Given the description of an element on the screen output the (x, y) to click on. 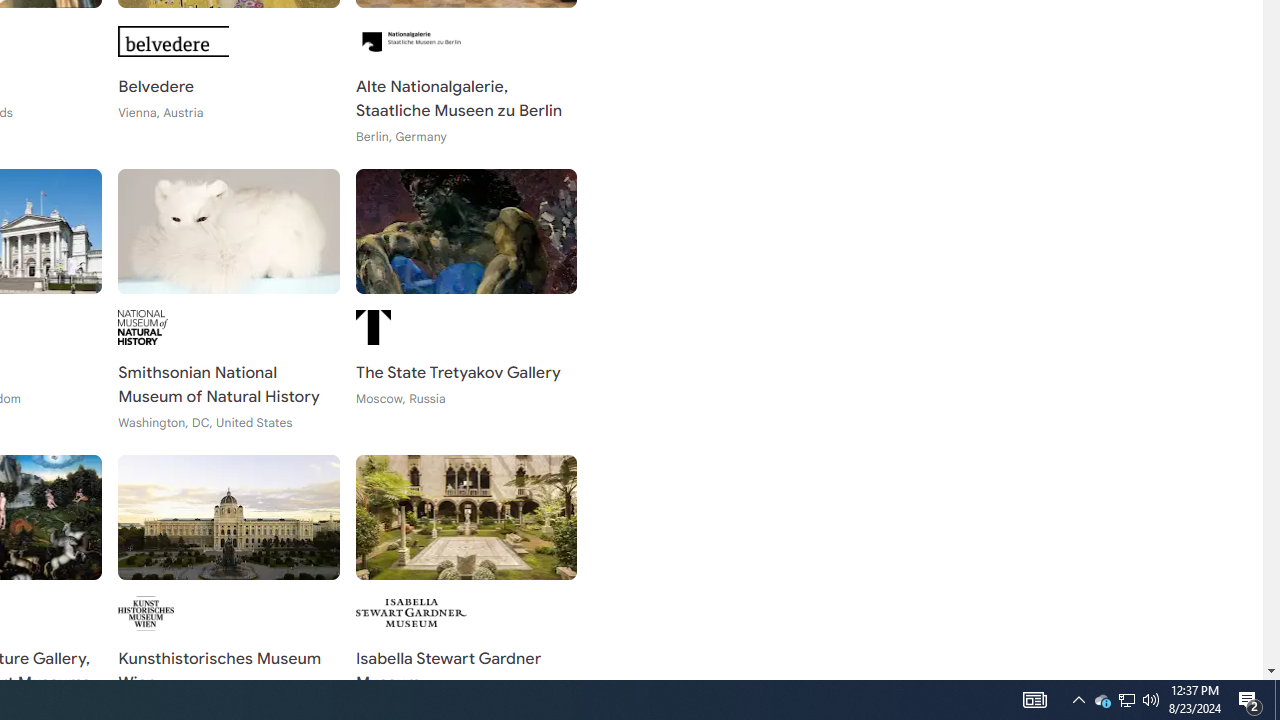
Isabella Stewart Gardner Museum Boston, United States (466, 585)
The State Tretyakov Gallery Moscow, Russia (466, 300)
Kunsthistorisches Museum Wien Vienna, Austria (228, 585)
